Given the description of an element on the screen output the (x, y) to click on. 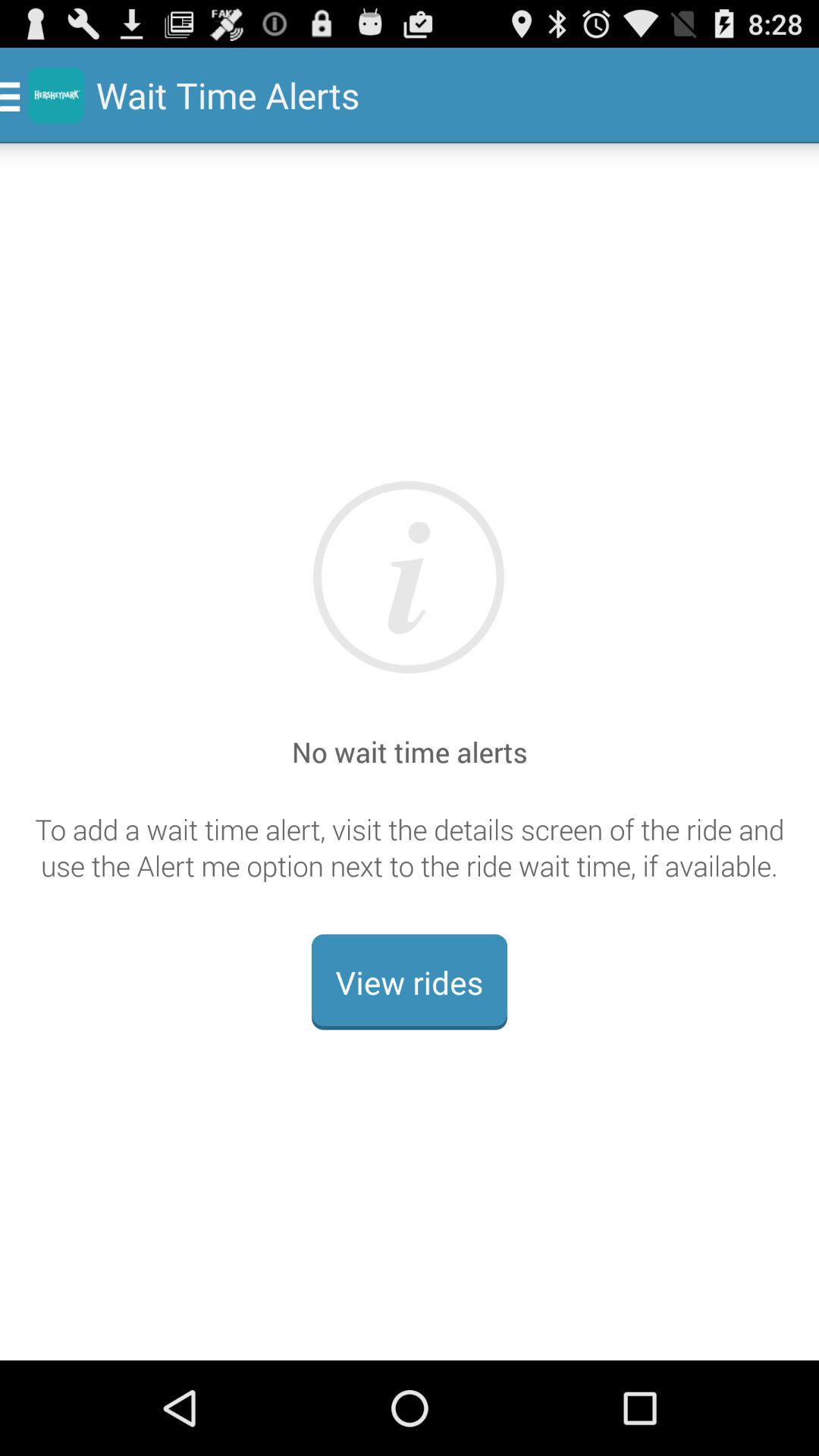
press the item below to add a (409, 982)
